Given the description of an element on the screen output the (x, y) to click on. 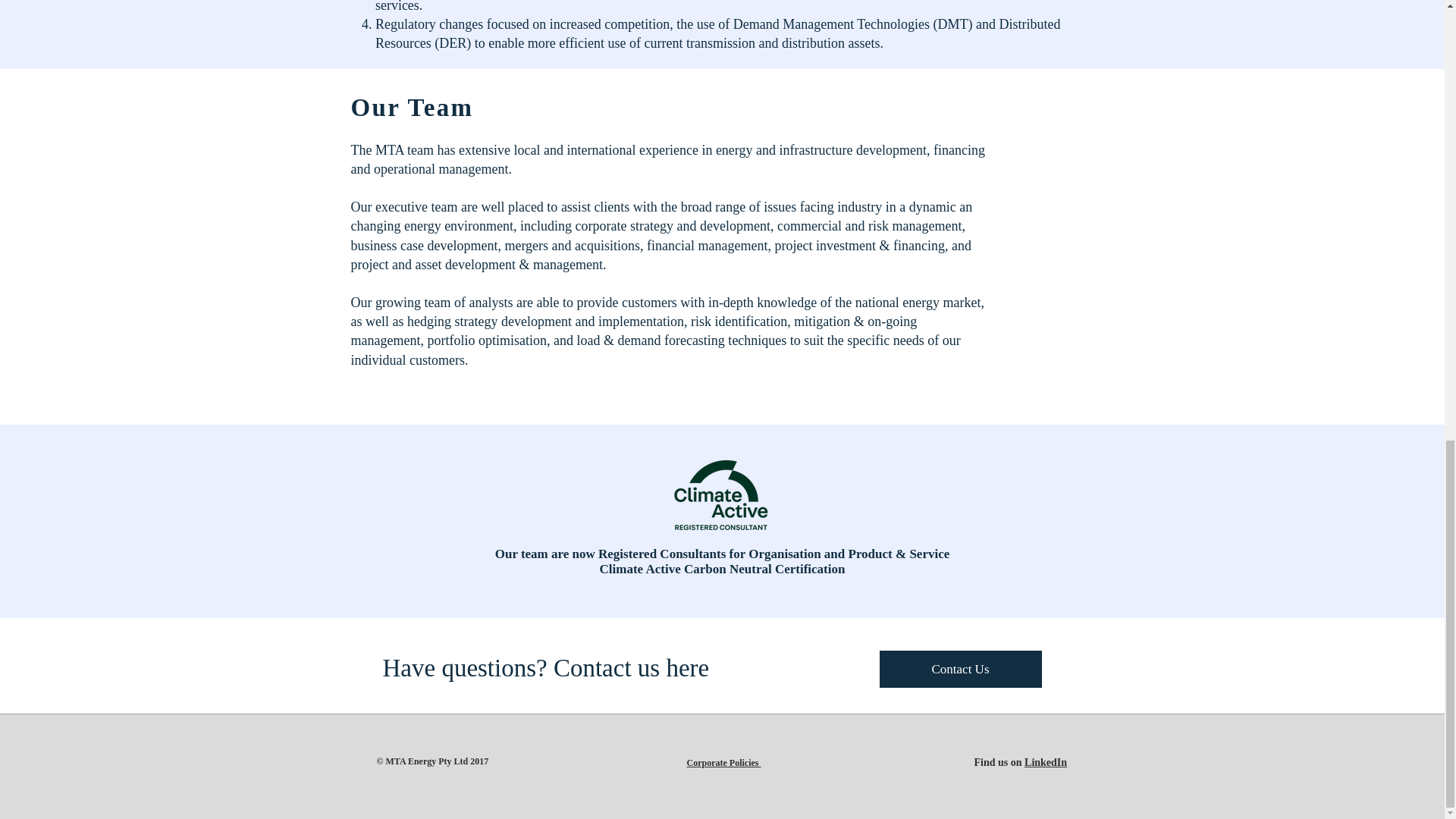
Corporate Policies  (724, 762)
Contact Us (960, 668)
LinkedIn (1046, 762)
